Given the description of an element on the screen output the (x, y) to click on. 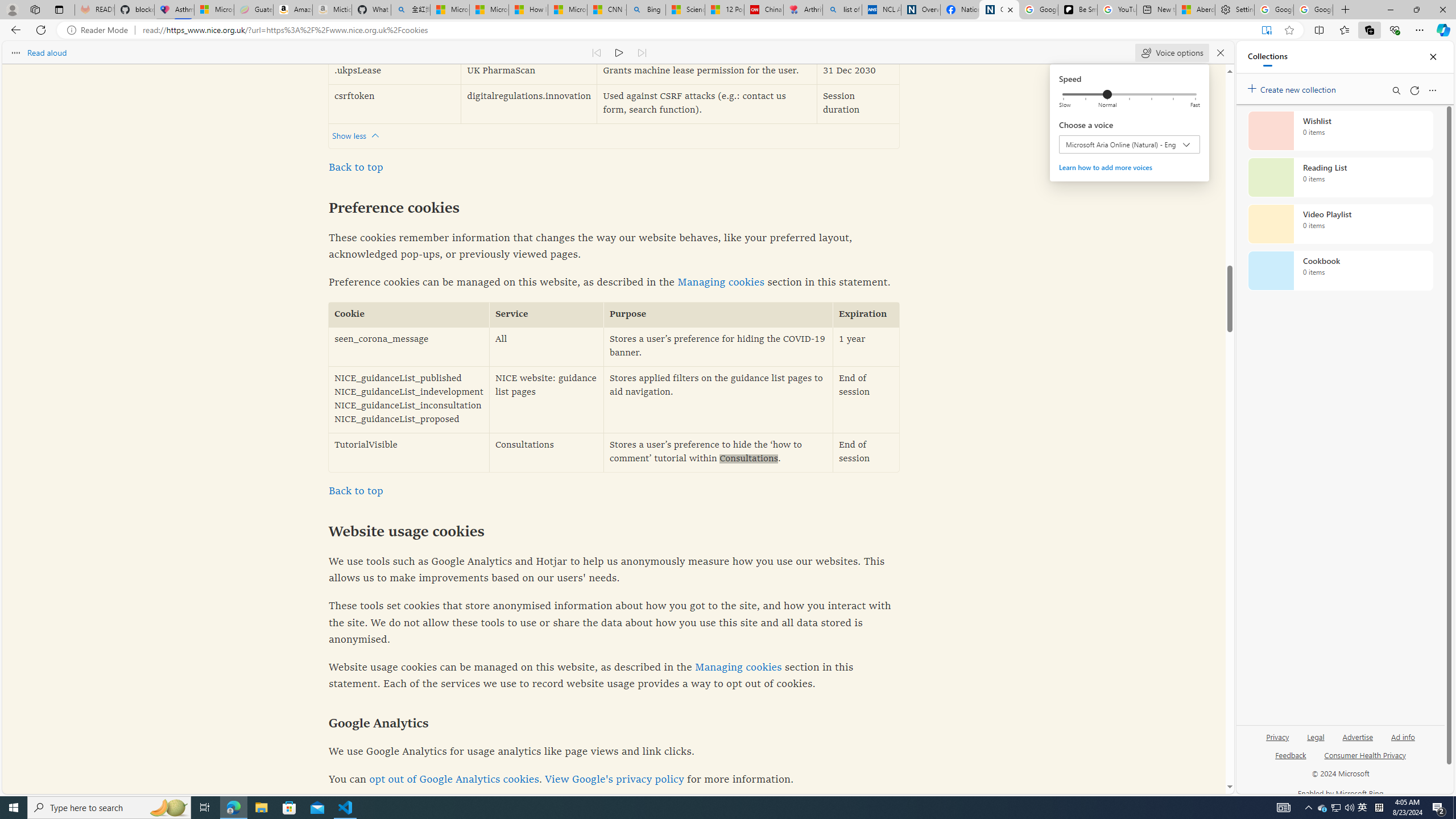
csrftoken (394, 103)
Wishlist collection, 0 items (1339, 130)
Consultations (546, 452)
Cookie (408, 315)
Legal (1315, 741)
digitalregulations.innovation (528, 103)
CNN - MSN (606, 9)
